Given the description of an element on the screen output the (x, y) to click on. 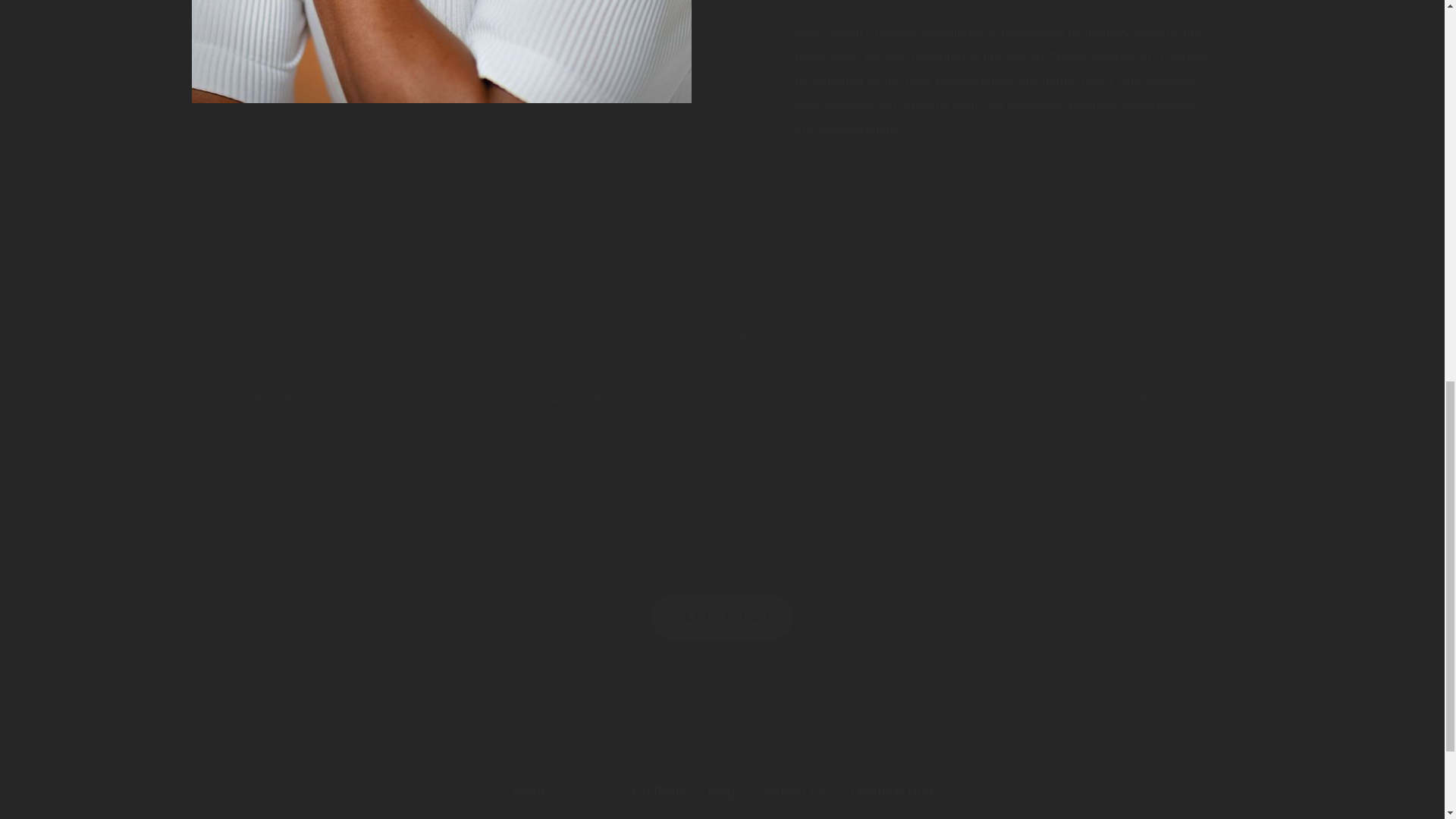
Portfolio (656, 791)
Blog (719, 791)
HOLLYWOOD REPORTER (586, 400)
GET IN TOUCH (721, 617)
BUSINESSDAY (858, 400)
Home (530, 791)
INSIDER (1131, 400)
BELLANAIJAWEDDING (313, 400)
About (590, 791)
Contact Us (791, 791)
